Given the description of an element on the screen output the (x, y) to click on. 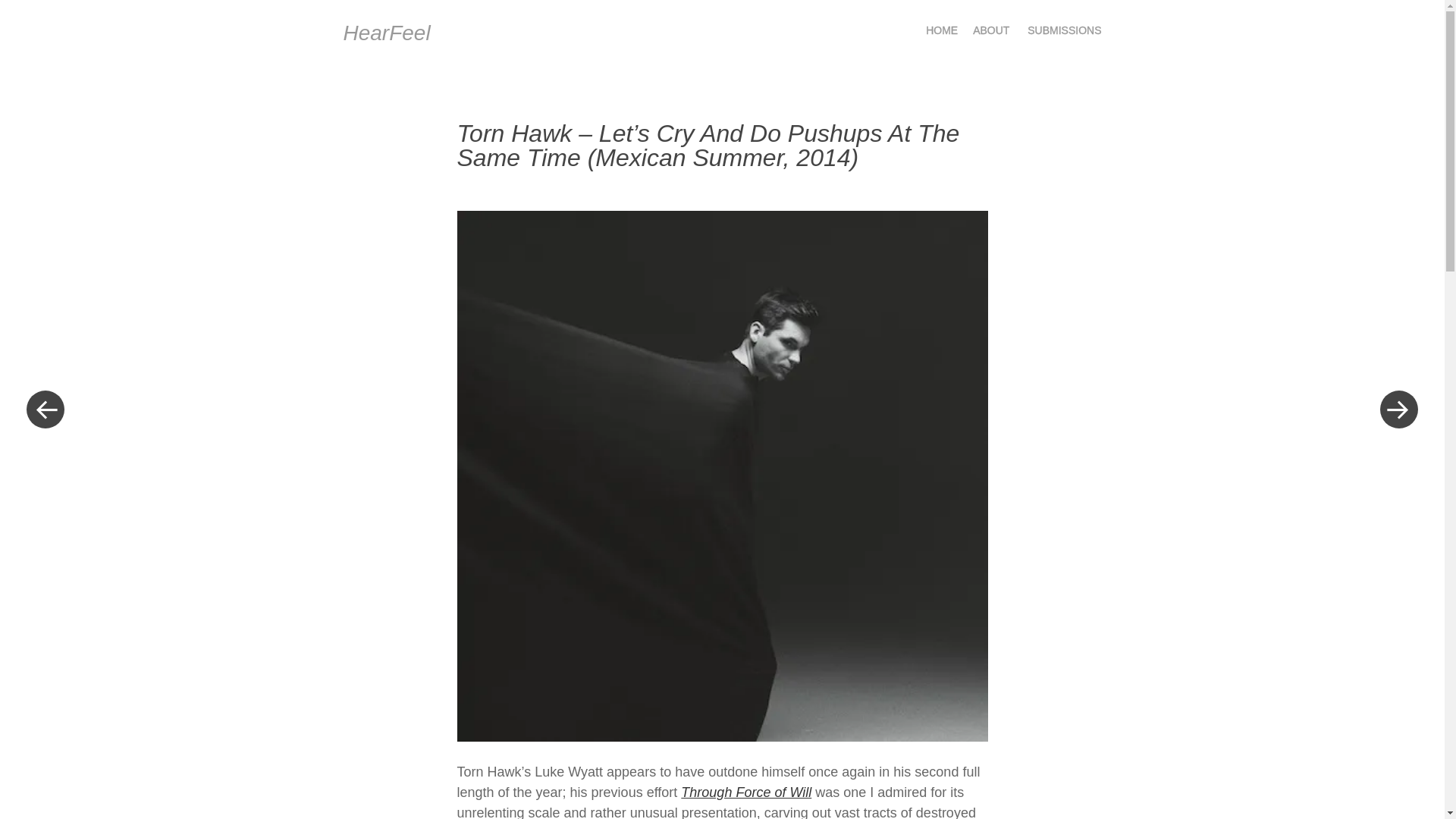
HOME (942, 30)
HearFeel (385, 33)
HearFeel (385, 33)
Through Force of Will (745, 792)
ABOUT (990, 30)
SUBMISSIONS (1063, 30)
Force of Will (745, 792)
